Given the description of an element on the screen output the (x, y) to click on. 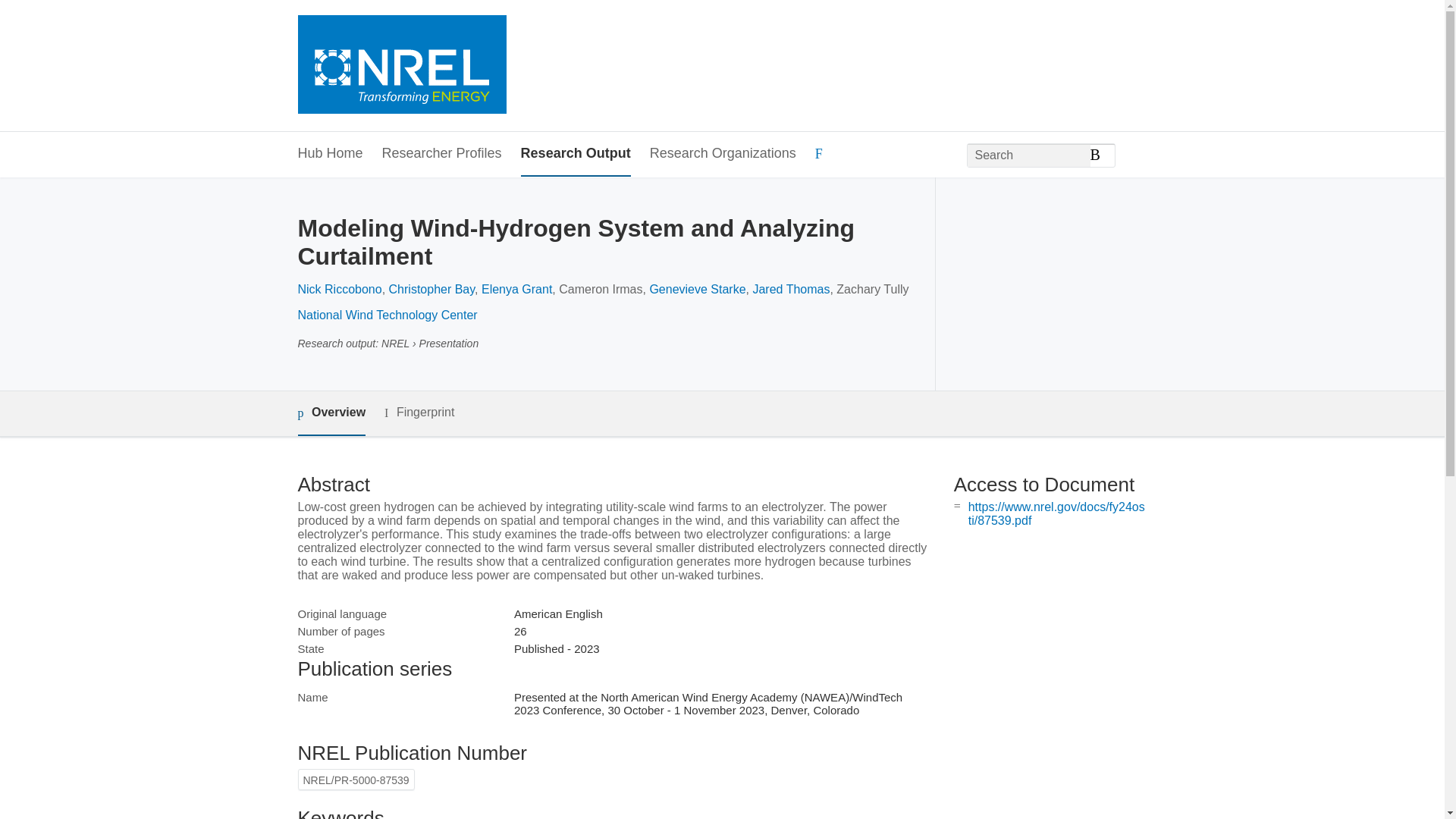
Researcher Profiles (441, 153)
Elenya Grant (516, 288)
Genevieve Starke (697, 288)
National Wind Technology Center (387, 314)
Nick Riccobono (339, 288)
Research Organizations (722, 153)
Christopher Bay (432, 288)
National Renewable Energy Laboratory Hub Home (401, 66)
Fingerprint (419, 412)
Overview (331, 413)
